Given the description of an element on the screen output the (x, y) to click on. 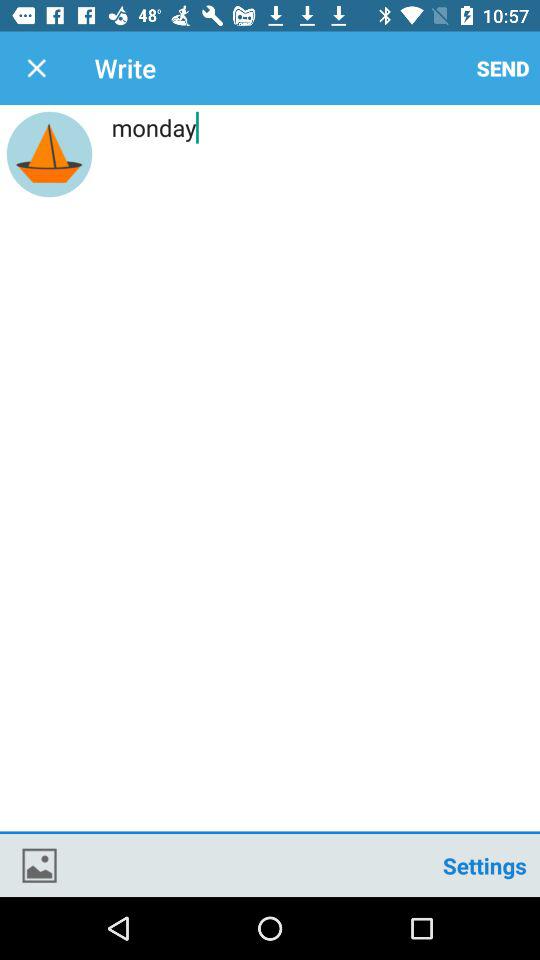
open monday (270, 471)
